Given the description of an element on the screen output the (x, y) to click on. 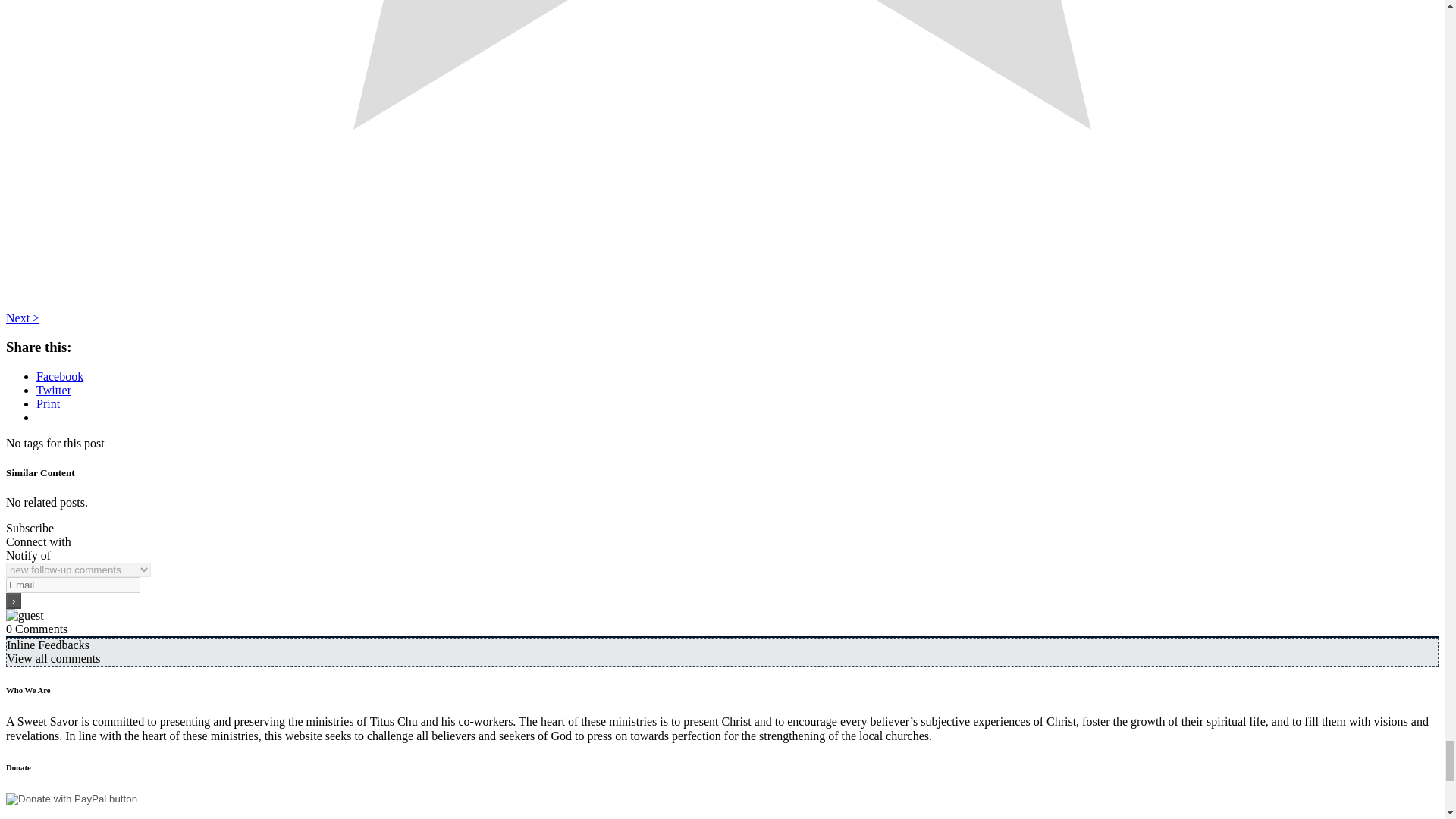
Click to print (47, 403)
Print (47, 403)
Click to share on Facebook (59, 376)
Twitter (53, 390)
Click to share on Twitter (53, 390)
Facebook (59, 376)
